Given the description of an element on the screen output the (x, y) to click on. 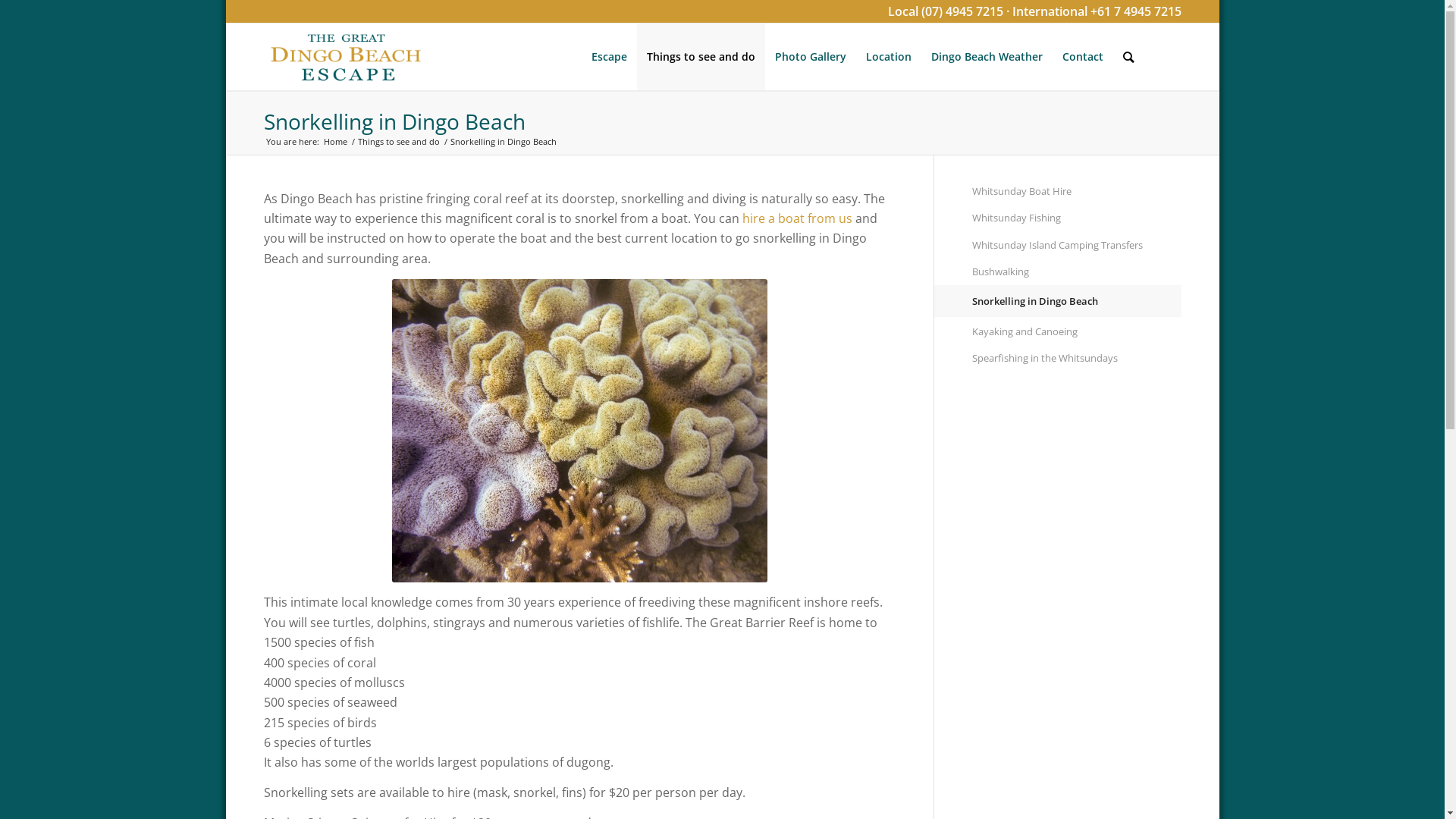
hire a boat from us Element type: text (796, 218)
Home Element type: text (335, 141)
Snorkelling in Dingo Beach Element type: text (1076, 301)
Bushwalking Element type: text (1076, 271)
Whitsunday Fishing Element type: text (1076, 217)
Whitsunday Boat Hire Element type: text (1076, 191)
Things to see and do Element type: text (701, 56)
Things to see and do Element type: text (397, 141)
Kayaking and Canoeing Element type: text (1076, 331)
Contact Element type: text (1082, 56)
Soft corals at Saddleback Island - Whitsundays Element type: hover (579, 430)
Escape Element type: text (608, 56)
Snorkelling in Dingo Beach Element type: text (394, 121)
Dingo Beach Weather Element type: text (985, 56)
Photo Gallery Element type: text (809, 56)
Location Element type: text (887, 56)
Spearfishing in the Whitsundays Element type: text (1076, 358)
Whitsunday Island Camping Transfers Element type: text (1076, 245)
